Given the description of an element on the screen output the (x, y) to click on. 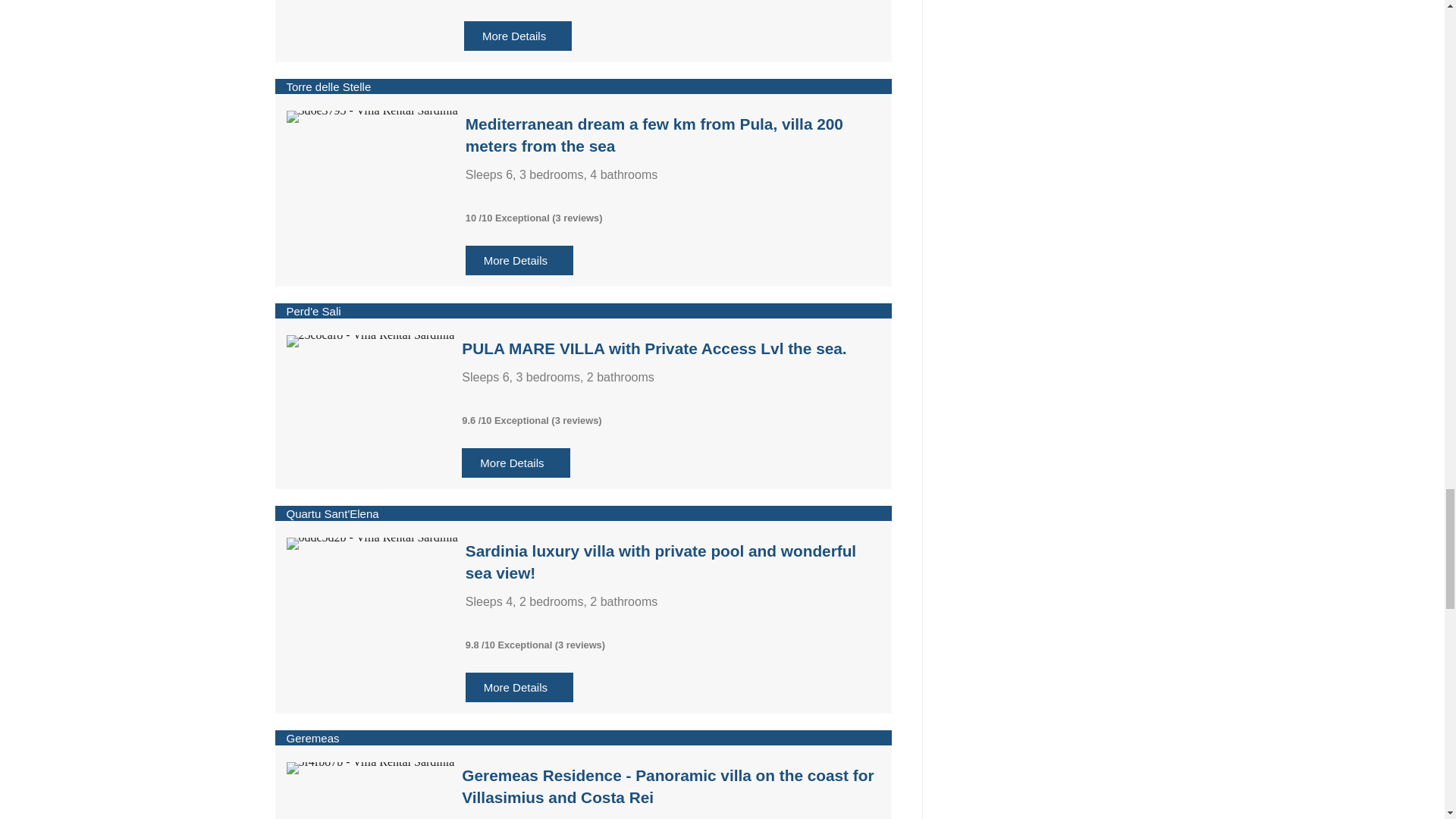
Villa Rental Cagliari - Villas Sardinia (372, 116)
Villa Rental Cagliari - Villas Sardinia (370, 340)
Villa Rental Cagliari - Villas Sardinia (370, 767)
Villa Rental Cagliari - Villas Sardinia (372, 543)
